Given the description of an element on the screen output the (x, y) to click on. 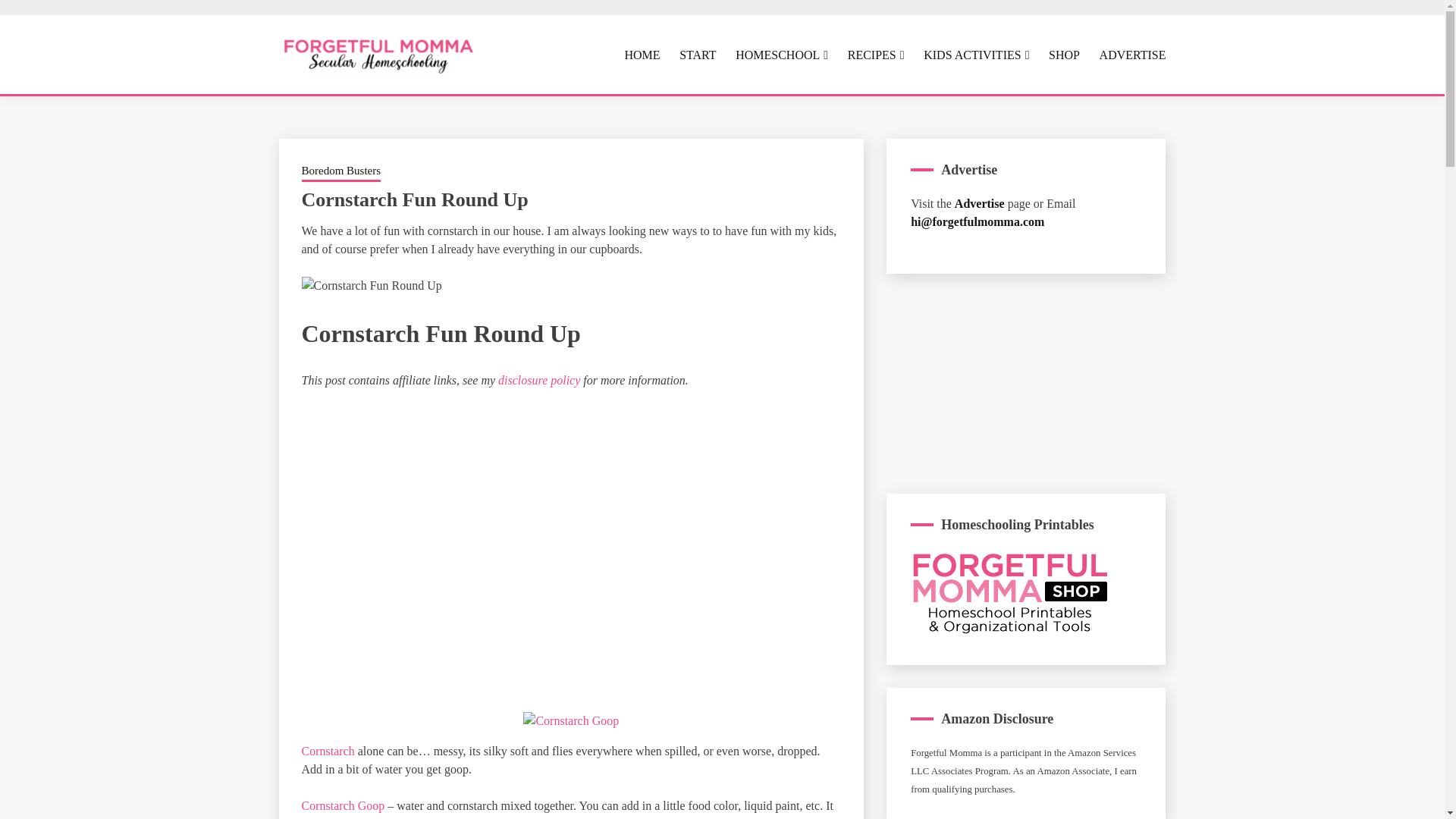
START (697, 55)
ADVERTISE (1132, 55)
FORGETFUL MOMMA (521, 106)
Cornstarch (328, 750)
Boredom Busters (341, 171)
KIDS ACTIVITIES (976, 55)
HOME (641, 55)
disclosure policy (538, 379)
RECIPES (875, 55)
HOMESCHOOL (781, 55)
SHOP (1064, 55)
